Given the description of an element on the screen output the (x, y) to click on. 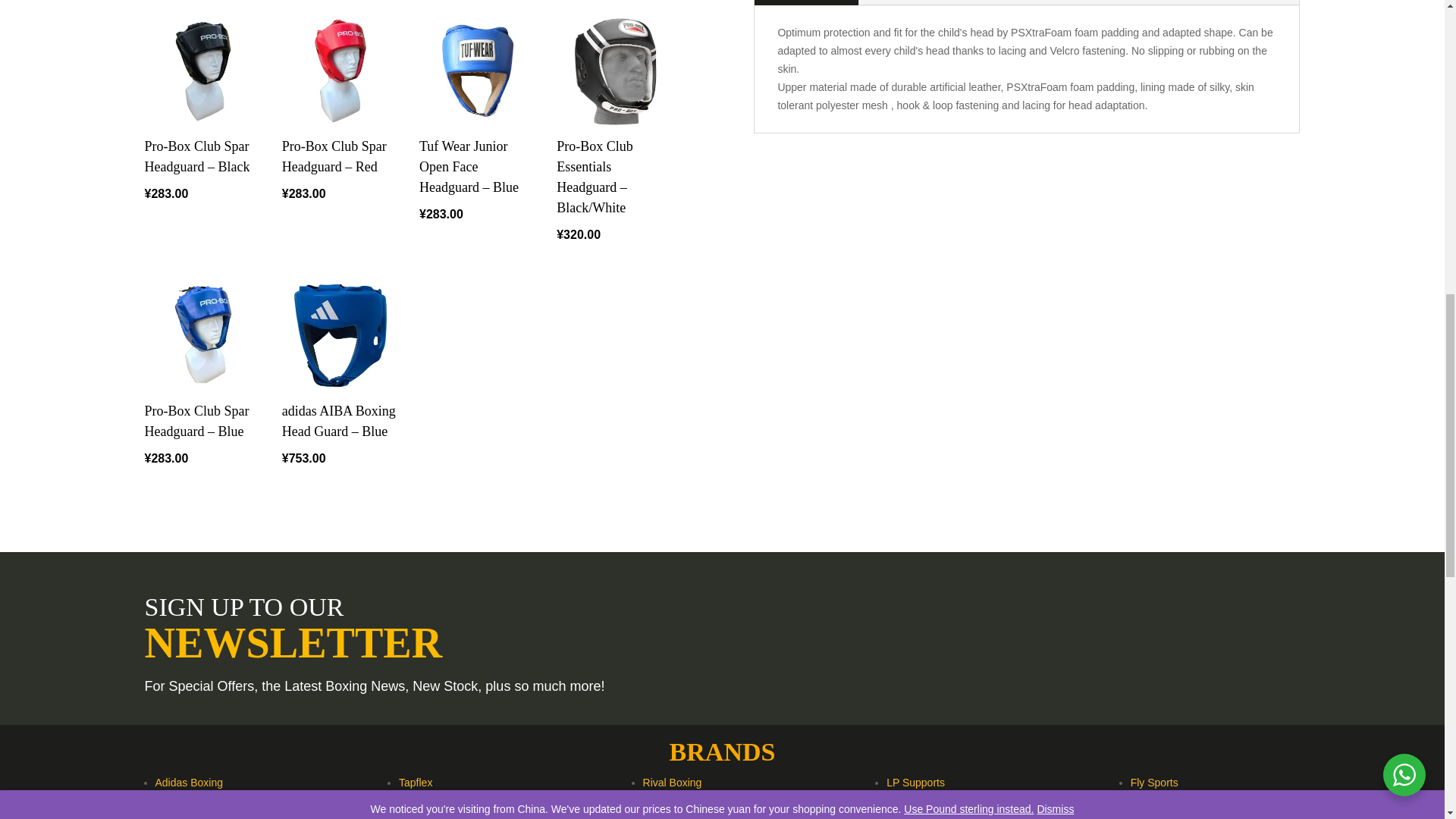
Subscription form (1117, 633)
BBE (165, 802)
Adidas Boxing (188, 782)
